Given the description of an element on the screen output the (x, y) to click on. 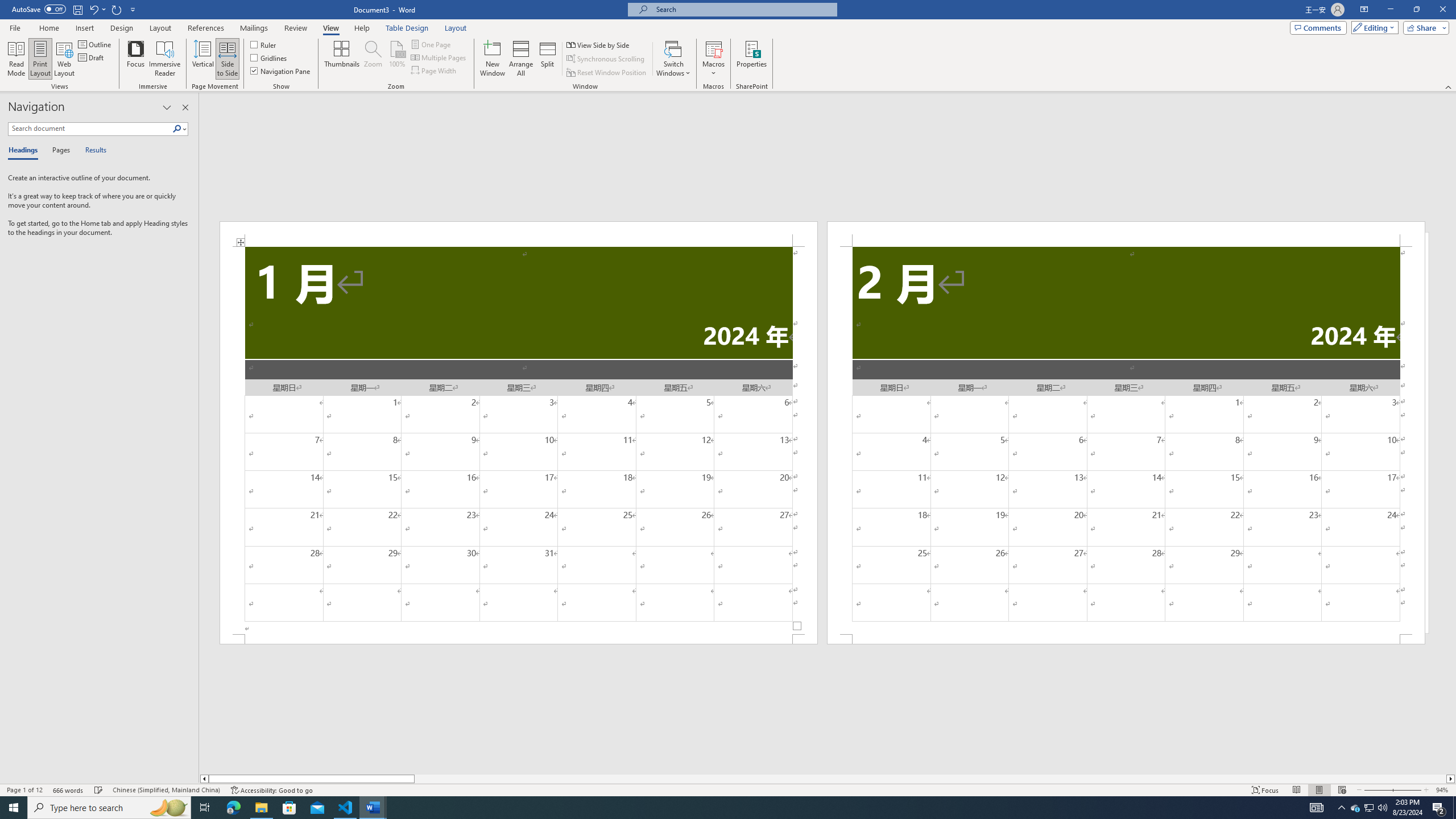
Split (547, 58)
Switch Windows (673, 58)
Arrange All (521, 58)
Draft (91, 56)
Navigation Pane (281, 69)
Immersive Reader (165, 58)
